Given the description of an element on the screen output the (x, y) to click on. 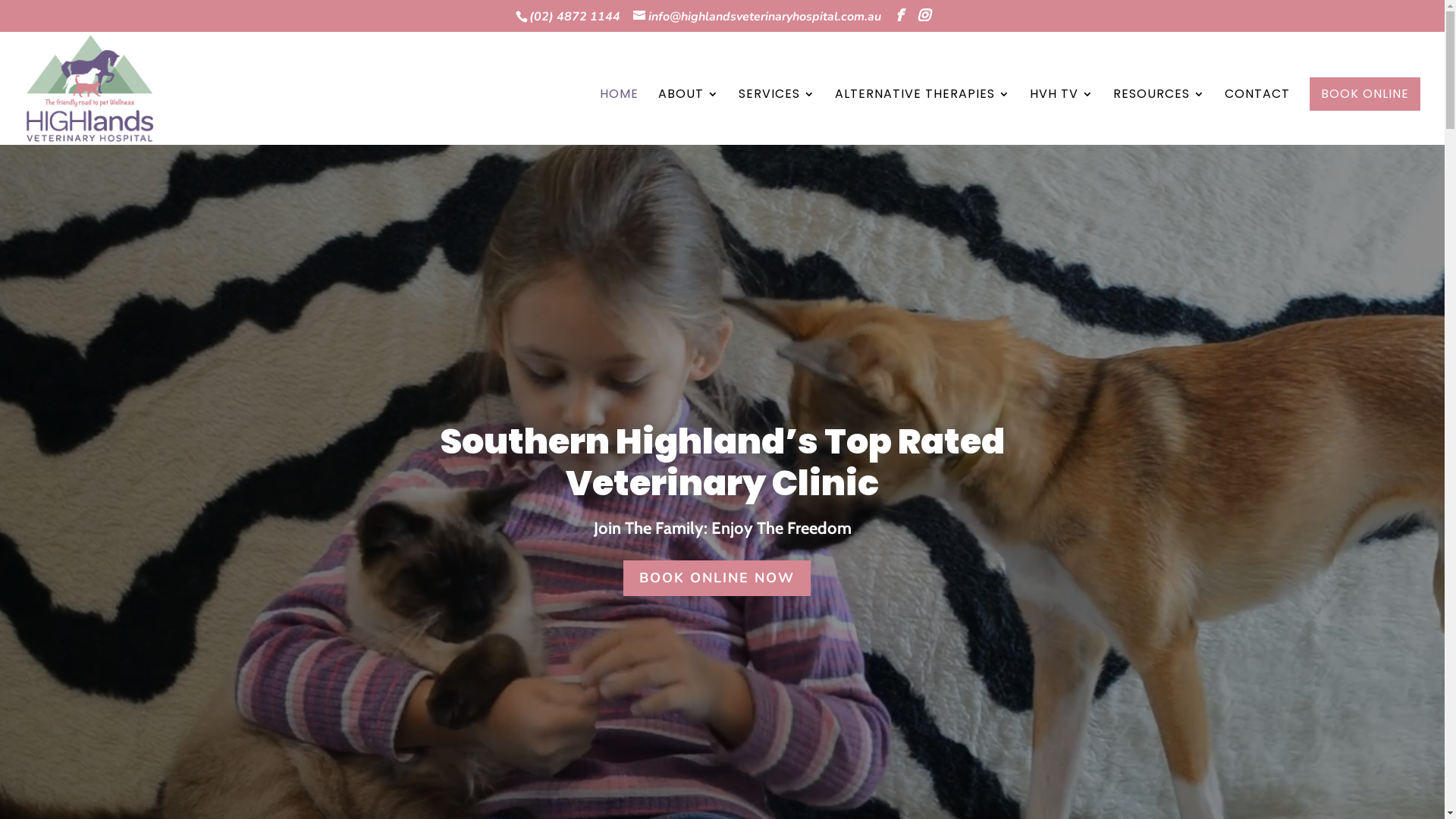
ALTERNATIVE THERAPIES Element type: text (922, 116)
ABOUT Element type: text (688, 116)
HOME Element type: text (618, 116)
BOOK ONLINE NOW Element type: text (716, 578)
CONTACT Element type: text (1256, 116)
BOOK ONLINE Element type: text (1364, 93)
SERVICES Element type: text (776, 116)
HVH TV Element type: text (1061, 116)
(02) 4872 1144 Element type: text (574, 16)
info@highlandsveterinaryhospital.com.au Element type: text (756, 16)
RESOURCES Element type: text (1158, 116)
